Given the description of an element on the screen output the (x, y) to click on. 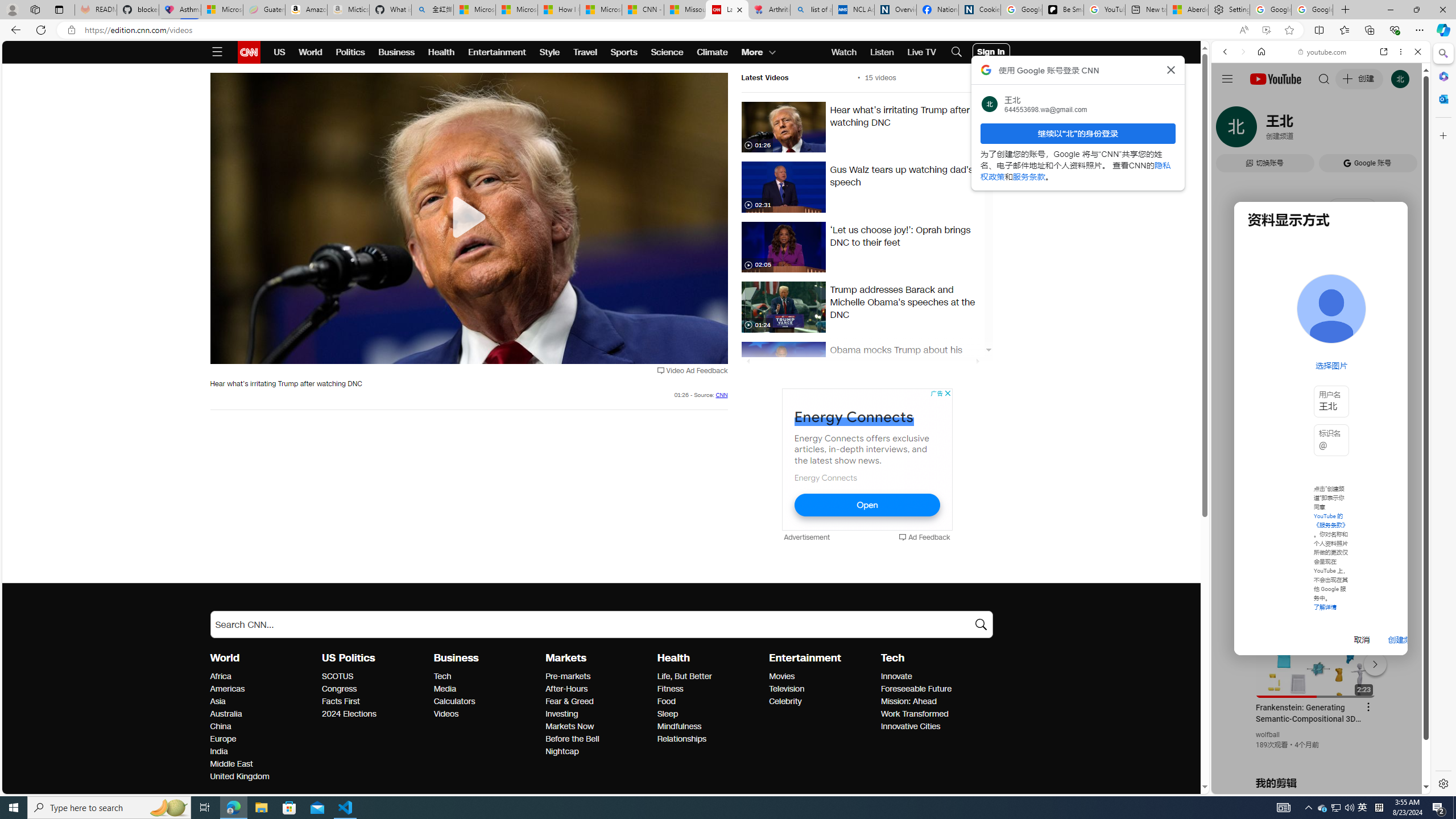
still_20889119_3870374.503_still.jpg (783, 367)
US (279, 51)
Movies (820, 676)
Fear & Greed (598, 701)
